Given the description of an element on the screen output the (x, y) to click on. 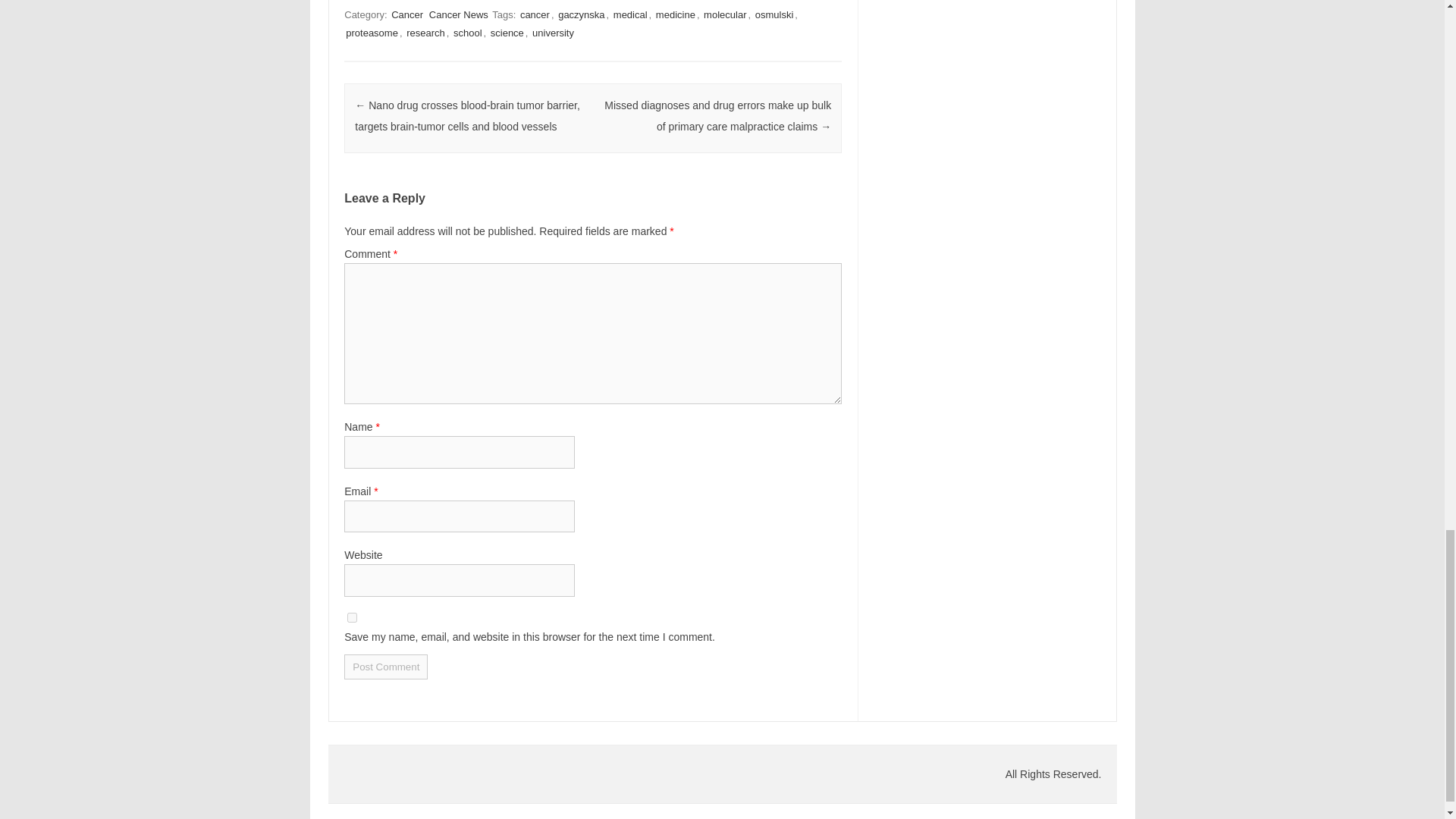
Cancer (407, 14)
science (507, 32)
medicine (675, 14)
molecular (724, 14)
gaczynska (580, 14)
Post Comment (385, 666)
research (425, 32)
cancer (534, 14)
school (467, 32)
university (553, 32)
proteasome (370, 32)
Post Comment (385, 666)
osmulski (774, 14)
yes (351, 617)
Cancer News (458, 14)
